Given the description of an element on the screen output the (x, y) to click on. 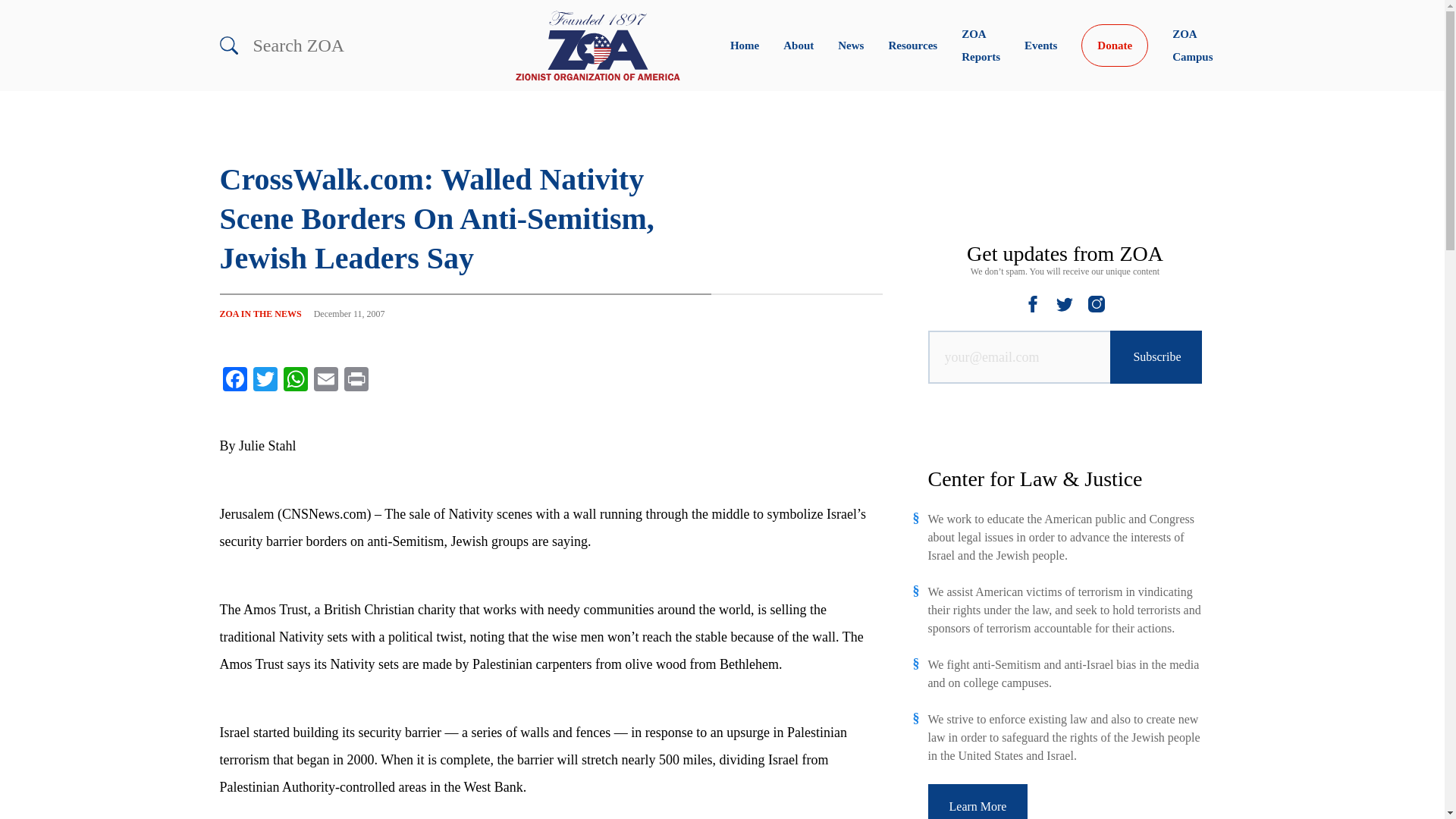
Twitter (265, 378)
Subscribe (1155, 357)
Resources (912, 45)
Home (744, 45)
Email (325, 378)
Events (1041, 45)
Print (355, 378)
Facebook (234, 378)
ZOA Campus (1192, 45)
ZOA IN THE NEWS (260, 313)
About (798, 45)
WhatsApp (296, 378)
News (850, 45)
Facebook (234, 378)
ZOA Reports (980, 45)
